Given the description of an element on the screen output the (x, y) to click on. 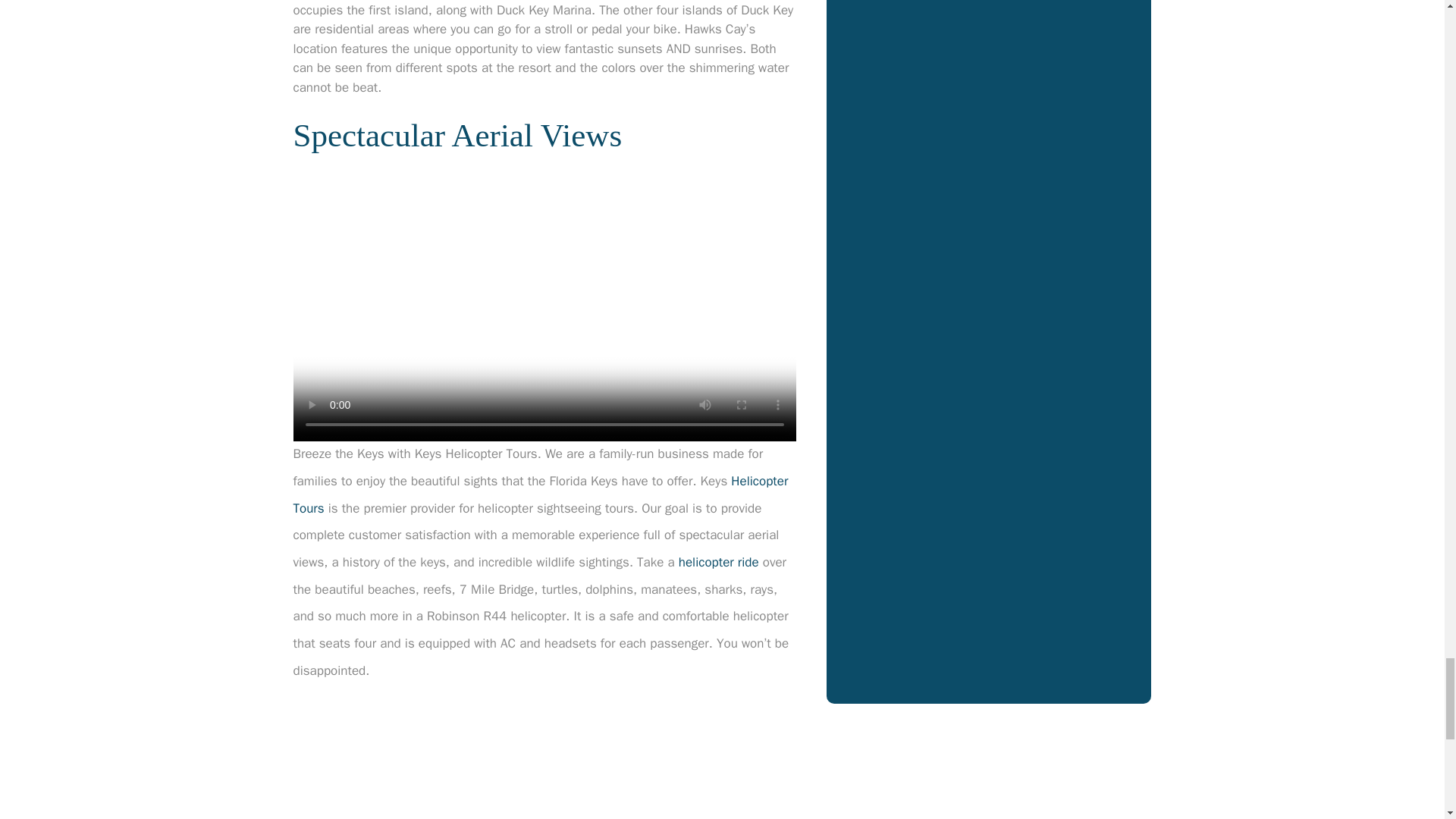
helicopter ride (718, 562)
Helicopter Tours (539, 494)
